Given the description of an element on the screen output the (x, y) to click on. 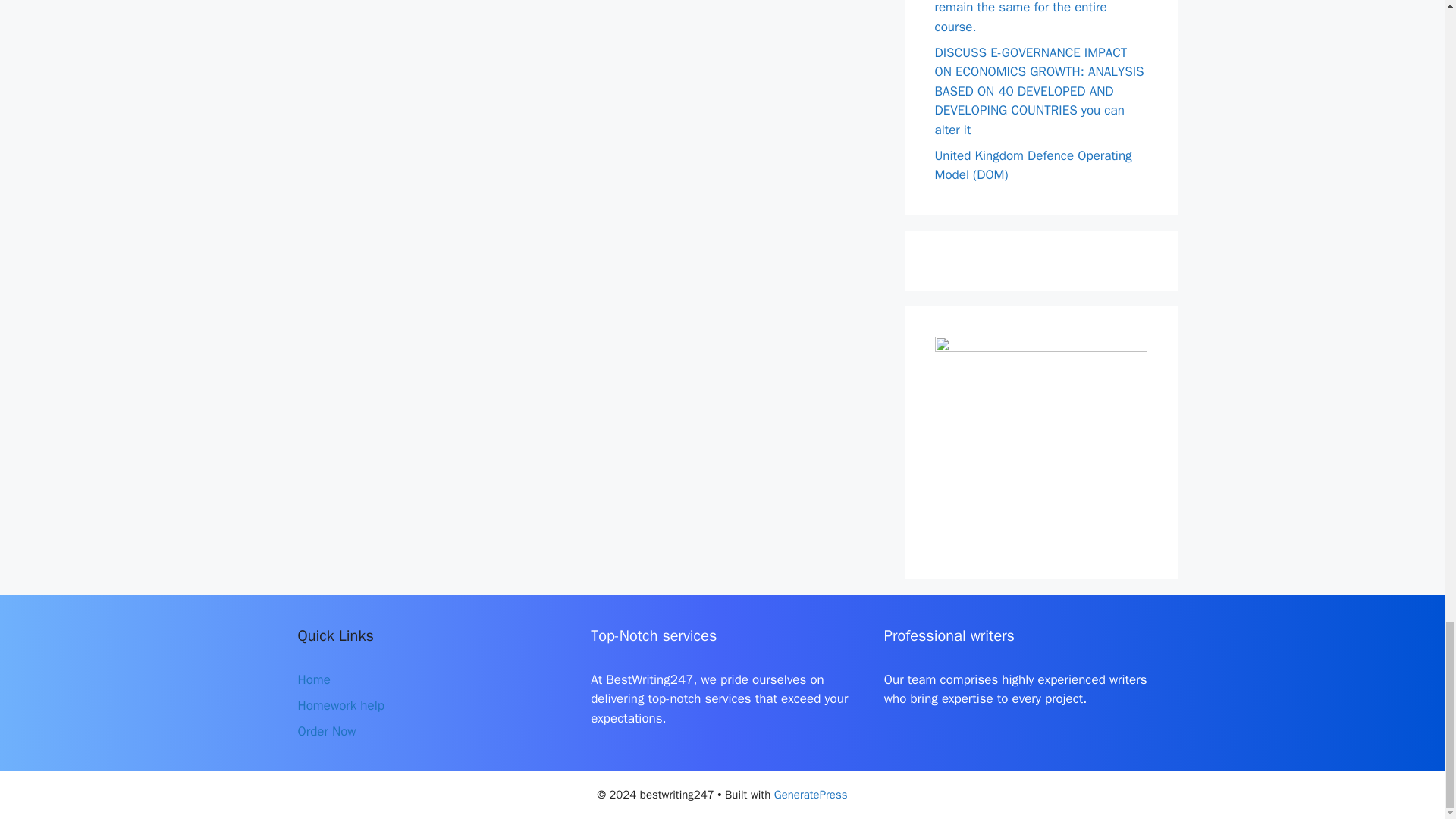
Order Now (326, 731)
Homework help (340, 705)
Home (313, 679)
GeneratePress (810, 794)
